Given the description of an element on the screen output the (x, y) to click on. 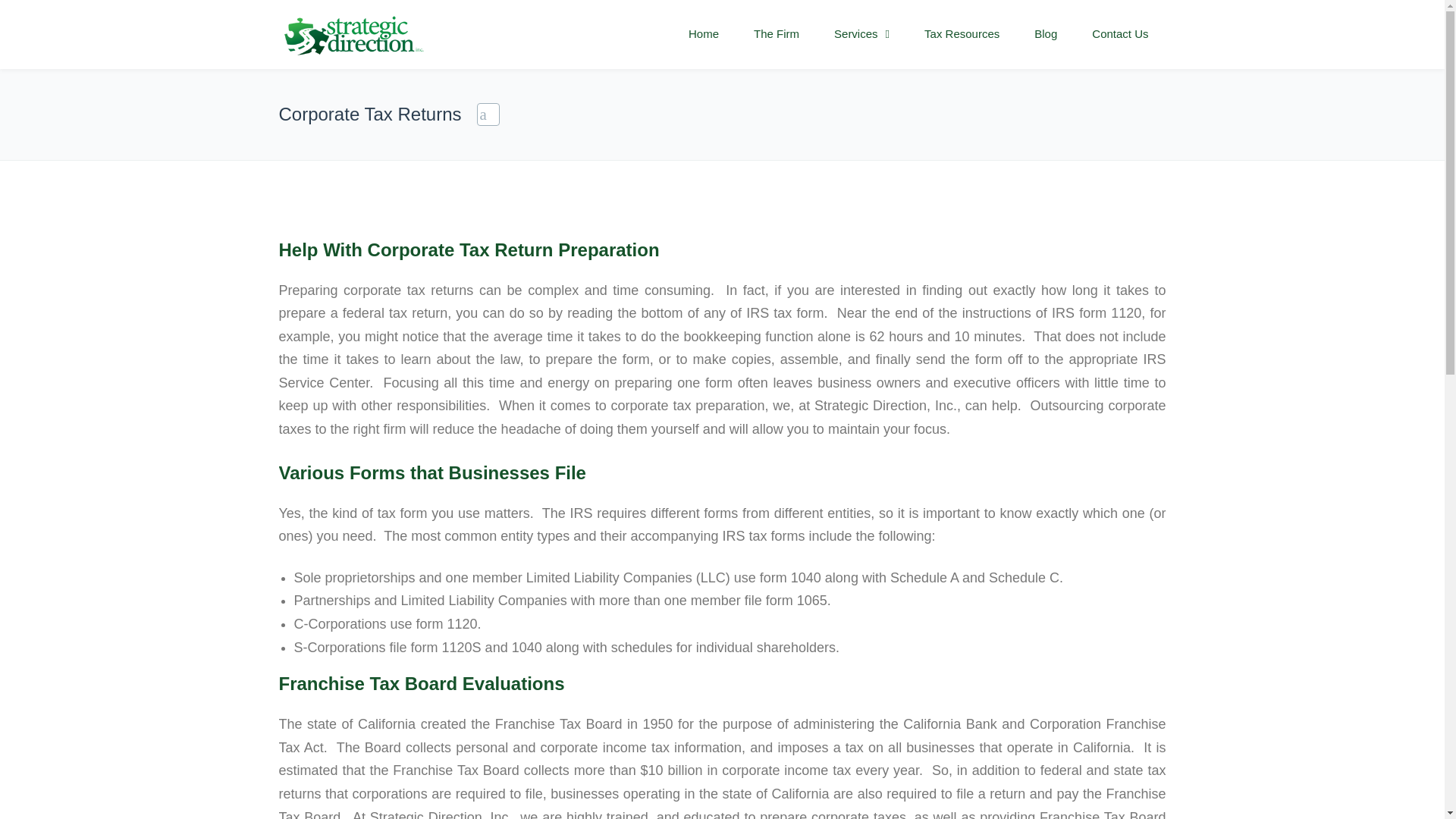
The Firm (776, 34)
Home (703, 34)
Contact Us (1120, 34)
Strategic Direction, Inc. (352, 34)
Services (861, 34)
Tax Resources (961, 34)
